Given the description of an element on the screen output the (x, y) to click on. 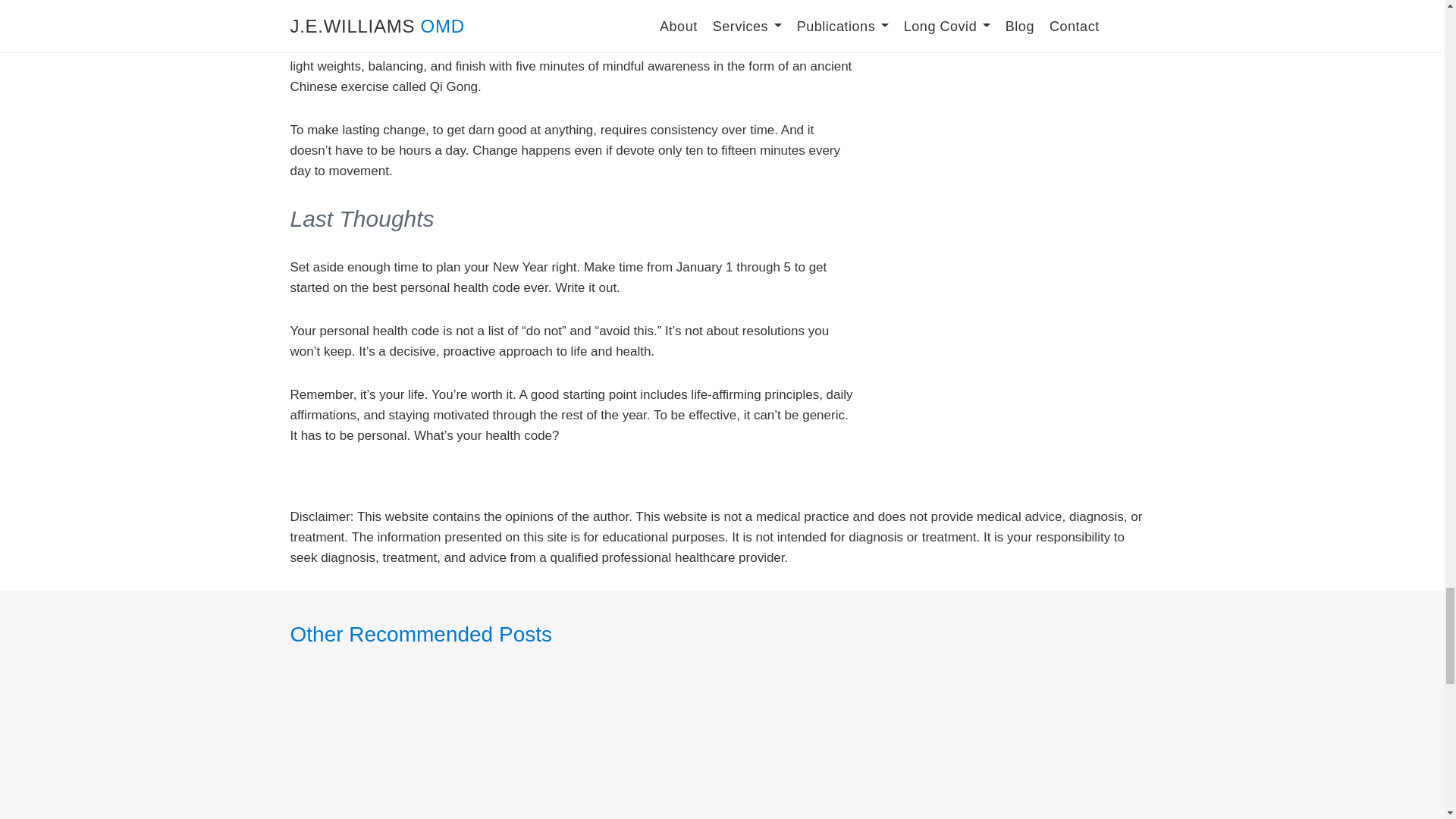
Read more (1017, 751)
Read more (425, 751)
Read more (722, 751)
